Given the description of an element on the screen output the (x, y) to click on. 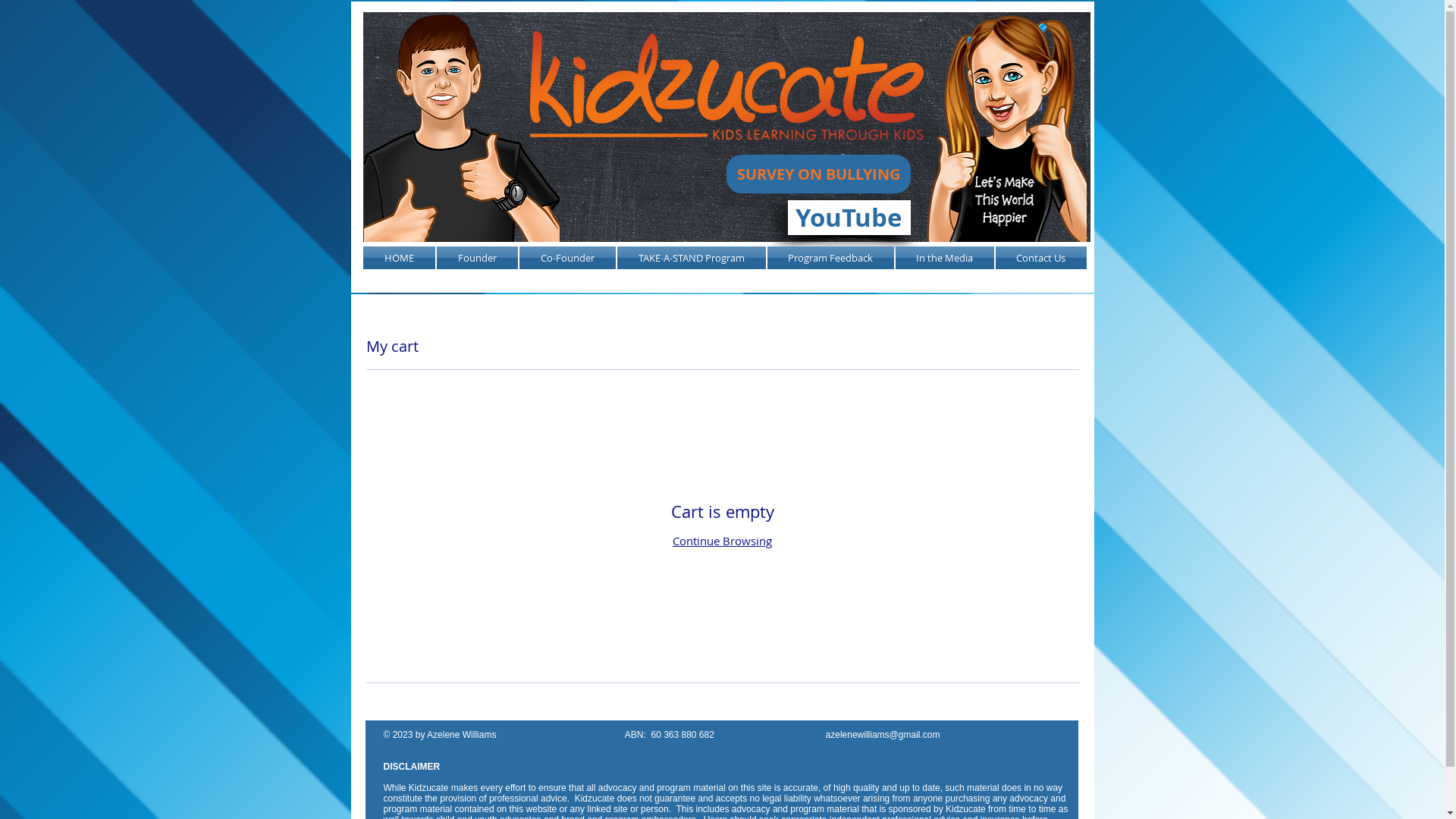
YouTube Element type: text (848, 217)
TAKE-A-STAND Program Element type: text (690, 257)
Co-Founder Element type: text (567, 257)
Founder Element type: text (476, 257)
Continue Browsing Element type: text (721, 540)
HOME Element type: text (398, 257)
Program Feedback Element type: text (829, 257)
SURVEY ON BULLYING Element type: text (818, 173)
Share Element type: text (1015, 102)
In the Media Element type: text (944, 257)
Origional.png Element type: hover (725, 126)
azelenewilliams@gmail.com Element type: text (882, 734)
Contact Us Element type: text (1040, 257)
Let's make this world happier.png Element type: hover (1001, 126)
